Given the description of an element on the screen output the (x, y) to click on. 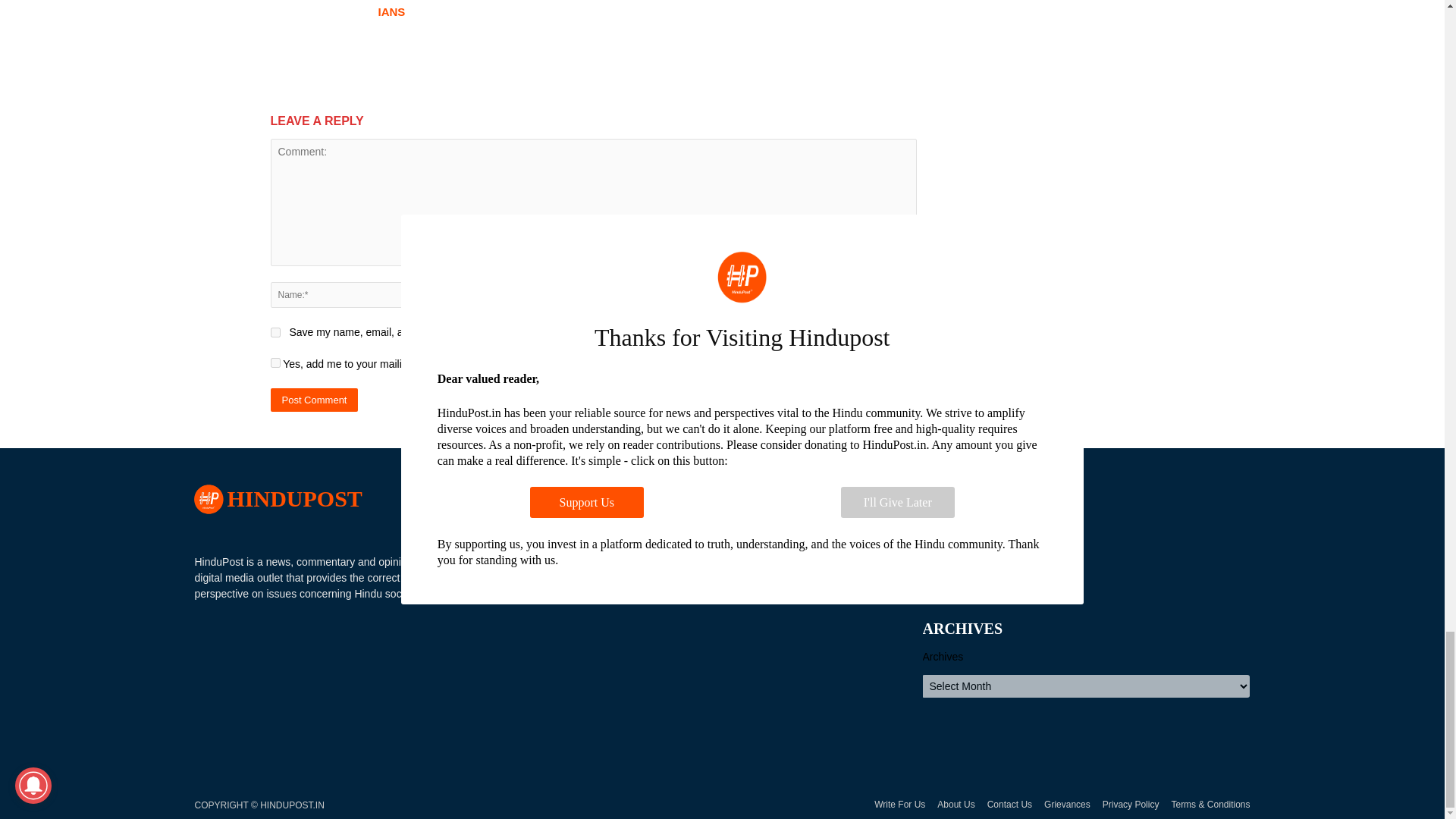
1 (274, 362)
yes (274, 332)
Post Comment (313, 399)
